Given the description of an element on the screen output the (x, y) to click on. 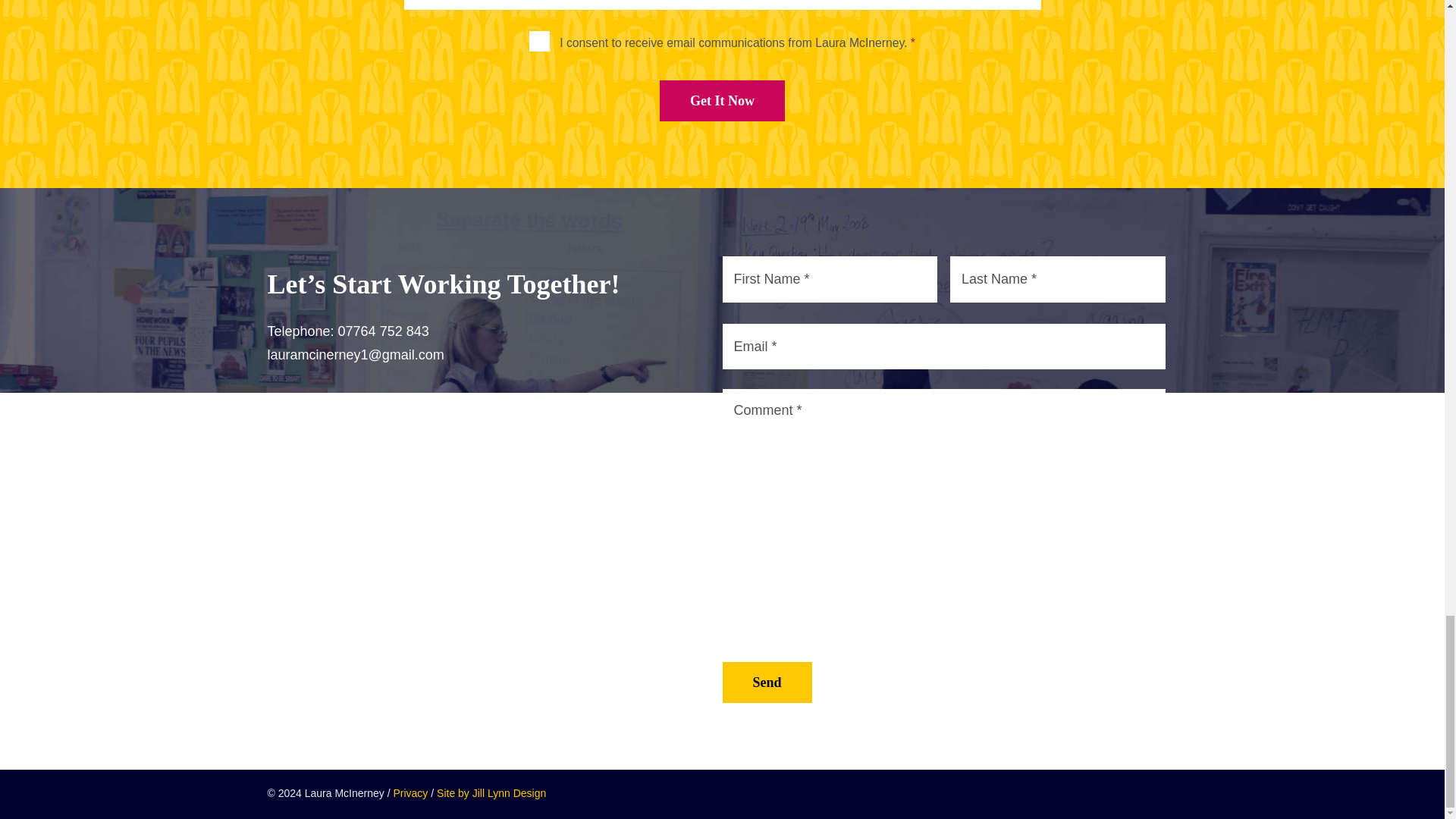
Send (766, 682)
Send (766, 681)
Privacy (410, 794)
Get It Now (721, 100)
Atlanta WordPress Designer and Developer (491, 793)
Site by Jill Lynn Design (491, 794)
Get It Now (721, 100)
